Given the description of an element on the screen output the (x, y) to click on. 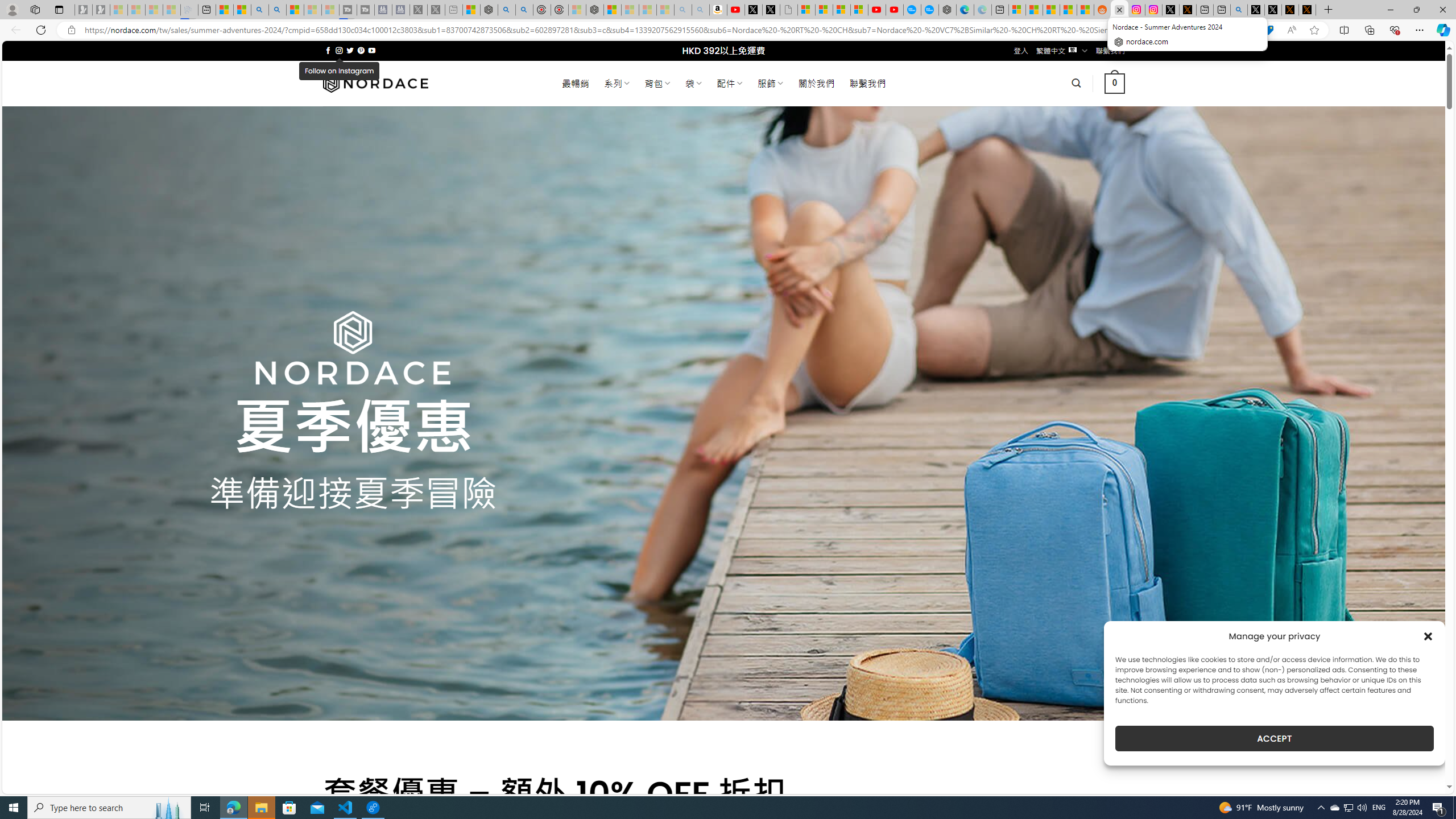
X Privacy Policy (1307, 9)
Tab actions menu (58, 9)
 0  (1115, 83)
View site information (70, 29)
Personal Profile (12, 9)
Nordace - Nordace Siena Is Not An Ordinary Backpack (594, 9)
Show translate options (1245, 29)
Streaming Coverage | T3 - Sleeping (347, 9)
Microsoft Start - Sleeping (312, 9)
GitHub (@github) / X (1273, 9)
